Given the description of an element on the screen output the (x, y) to click on. 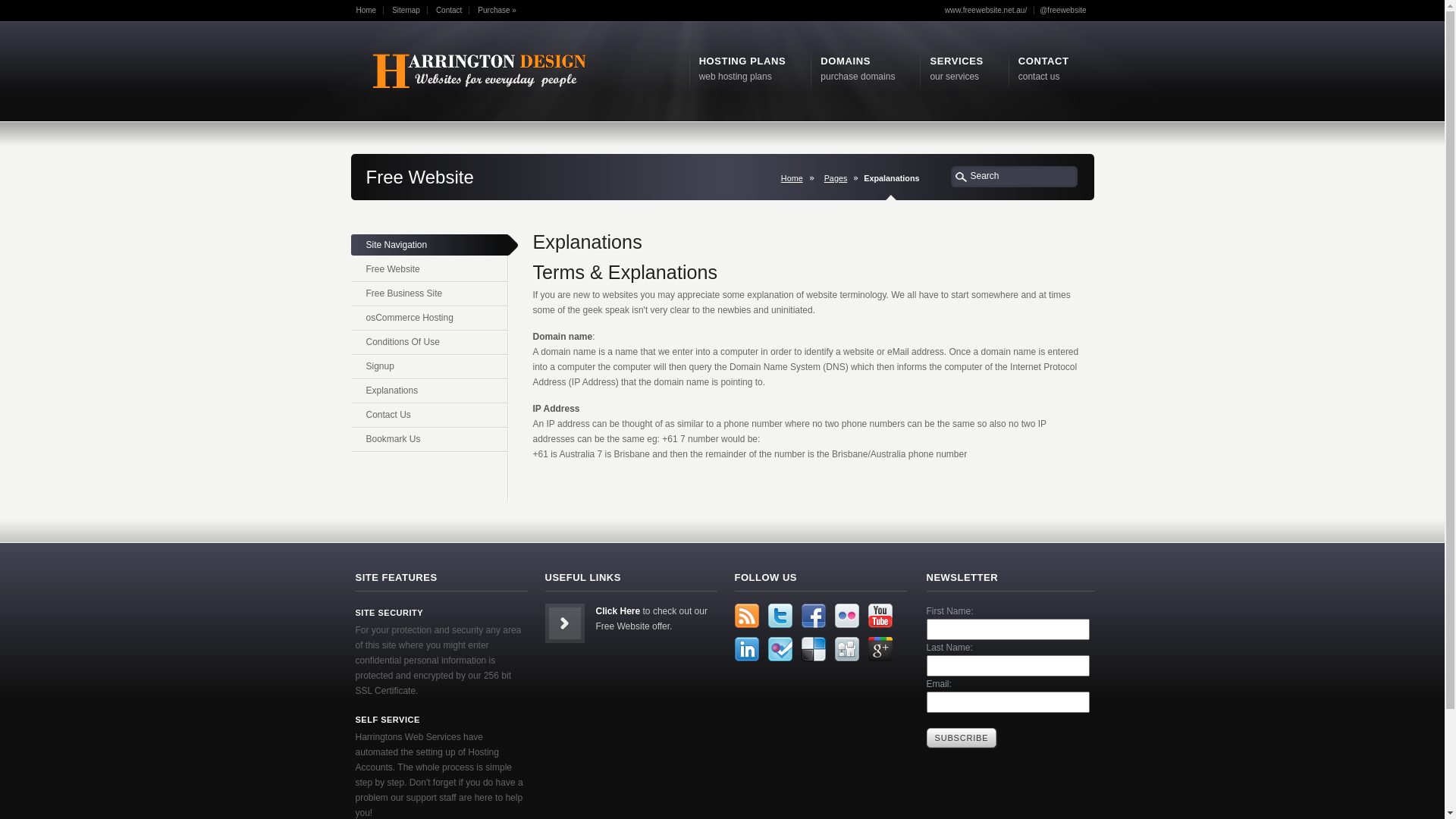
Conditions Of Use Element type: text (428, 343)
Sitemap Element type: text (409, 10)
Home Element type: text (370, 10)
Free Website Element type: text (428, 270)
Subscribe Element type: text (961, 737)
Google + Element type: text (879, 649)
Home Element type: text (794, 177)
Twitter Element type: text (779, 615)
FourSquare Element type: text (779, 649)
Click Here Element type: text (618, 610)
Digg Element type: text (846, 649)
Delicious Element type: text (812, 649)
rss Element type: text (746, 615)
Facebook Element type: text (812, 615)
HOSTING PLANS
web hosting plans Element type: text (742, 68)
YouTube Element type: text (879, 615)
Free Website Element type: hover (479, 73)
Explanations Element type: text (428, 391)
Bookmark Us Element type: text (428, 440)
Pages Element type: text (839, 177)
CONTACT
contact us Element type: text (1043, 68)
LinkedIn Element type: text (746, 649)
DOMAINS
purchase domains Element type: text (857, 68)
osCommerce Hosting Element type: text (428, 319)
SERVICES
our services Element type: text (955, 68)
Free Business Site Element type: text (428, 294)
@freewebsite Element type: text (1066, 10)
Contact Us Element type: text (428, 416)
Site Navigation Element type: text (433, 246)
Flickr Element type: text (846, 615)
Contact Element type: text (452, 10)
search Element type: text (960, 175)
Signup Element type: text (428, 367)
www.freewebsite.net.au/ Element type: text (989, 10)
